Given the description of an element on the screen output the (x, y) to click on. 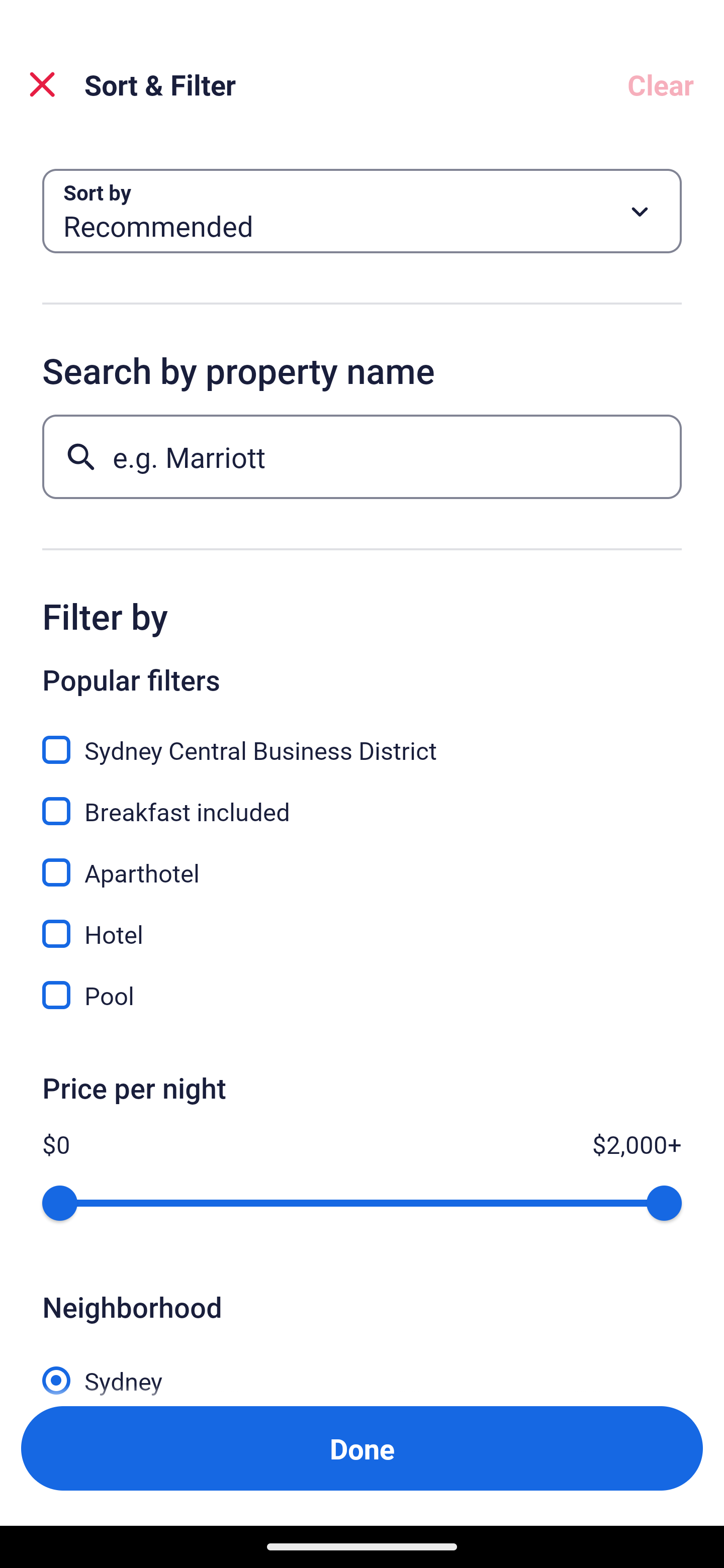
Close Sort and Filter (42, 84)
Clear (660, 84)
Sort by Button Recommended (361, 211)
e.g. Marriott Button (361, 455)
Breakfast included, Breakfast included (361, 800)
Aparthotel, Aparthotel (361, 861)
Hotel, Hotel (361, 922)
Pool, Pool (361, 995)
Apply and close Sort and Filter Done (361, 1448)
